Given the description of an element on the screen output the (x, y) to click on. 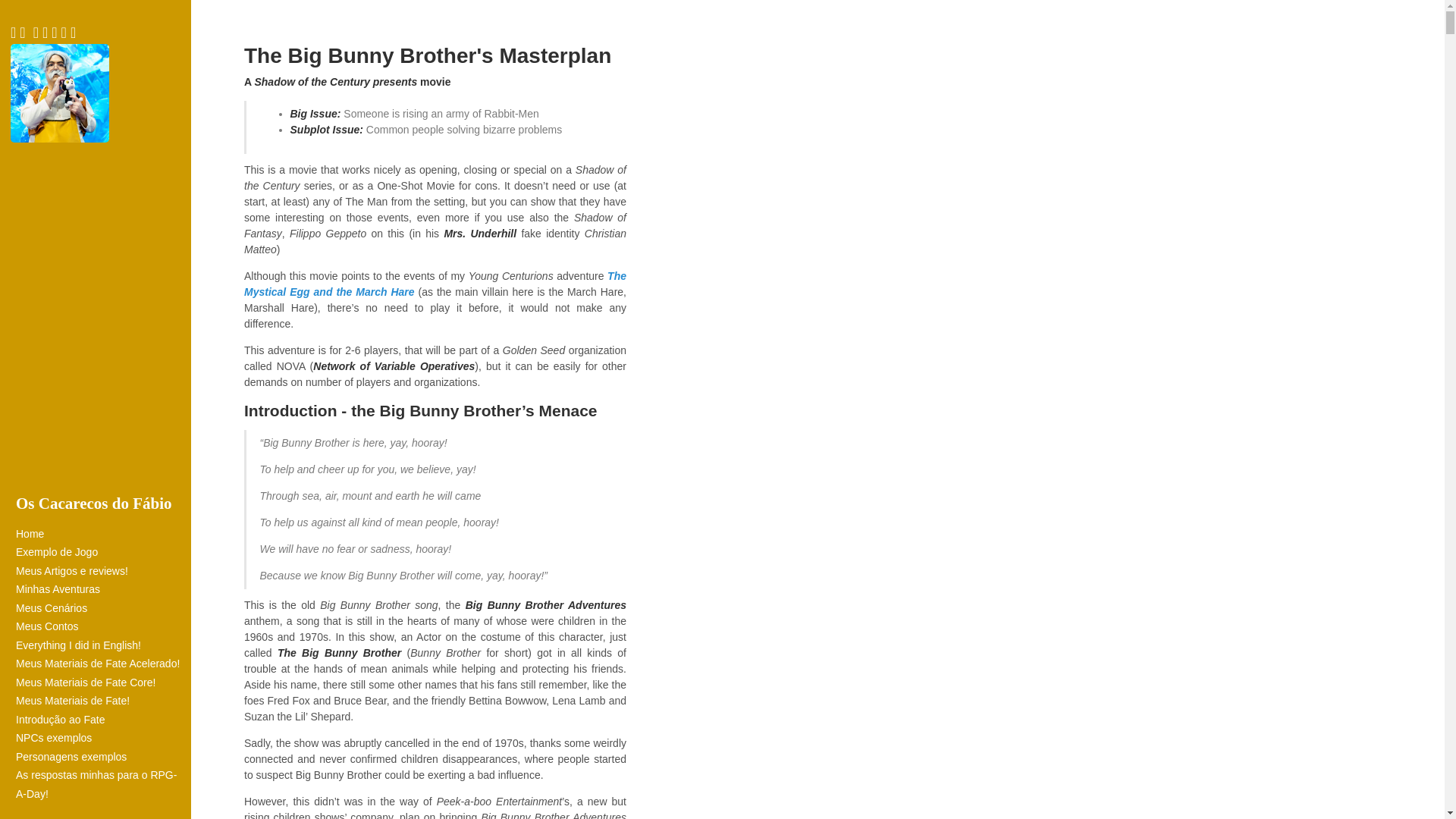
Minhas Aventuras (101, 588)
As respostas minhas para o RPG-A-Day! (101, 784)
Everything I did in English! (101, 644)
Meus Materiais de Fate! (101, 700)
The Mystical Egg and the March Hare (435, 284)
Meus Artigos e reviews! (101, 570)
Meus Materiais de Fate Core! (101, 682)
Meus Contos (101, 626)
Home (101, 533)
Meus Materiais de Fate Acelerado! (101, 663)
